Given the description of an element on the screen output the (x, y) to click on. 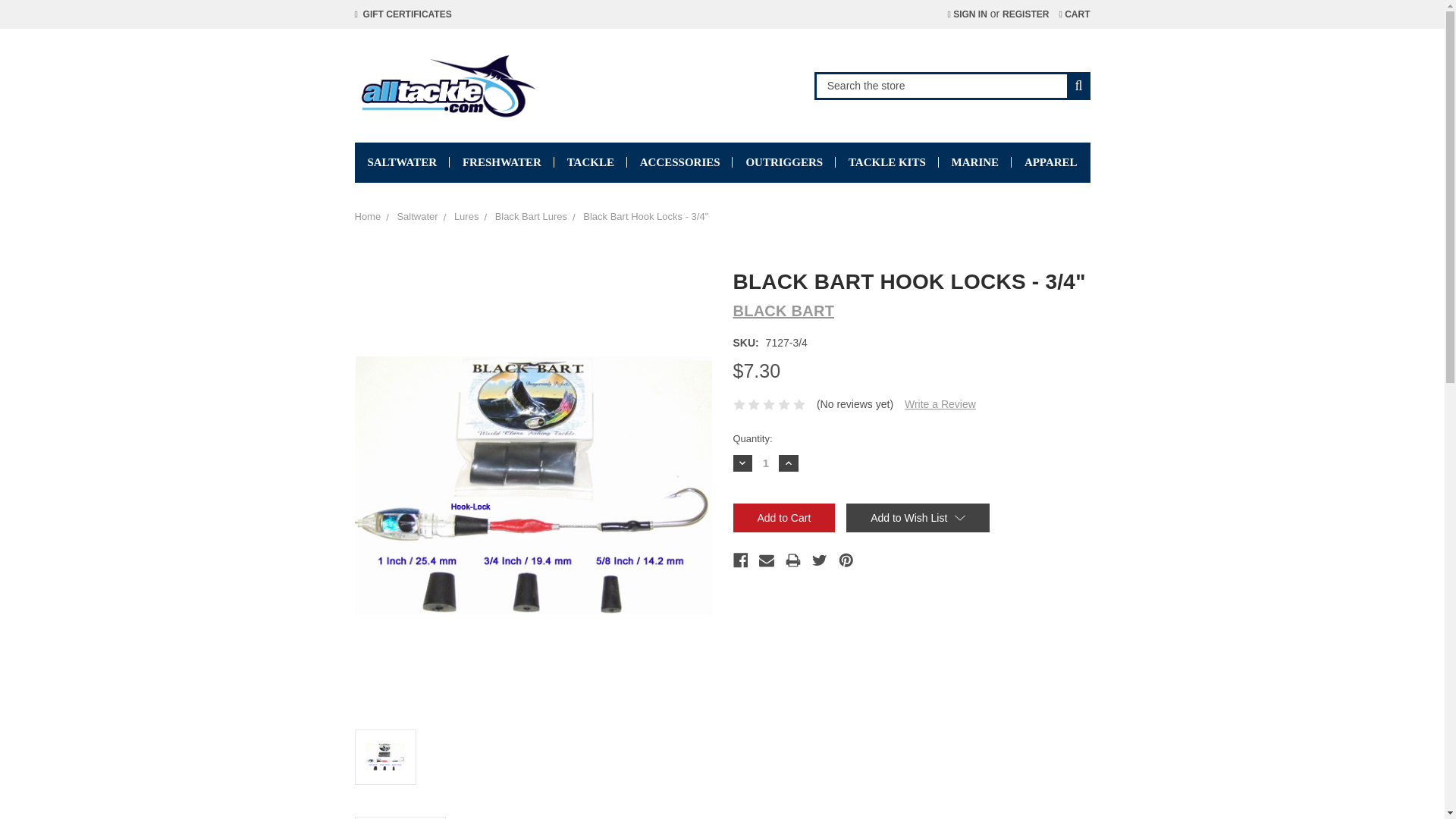
  GIFT CERTIFICATES (403, 14)
Add to Cart (783, 517)
Black Bart Hook Locks (533, 485)
1 (765, 462)
CART (1074, 14)
REGISTER (1025, 14)
SALTWATER (401, 162)
SIGN IN (966, 14)
alltackle.com (447, 85)
